Given the description of an element on the screen output the (x, y) to click on. 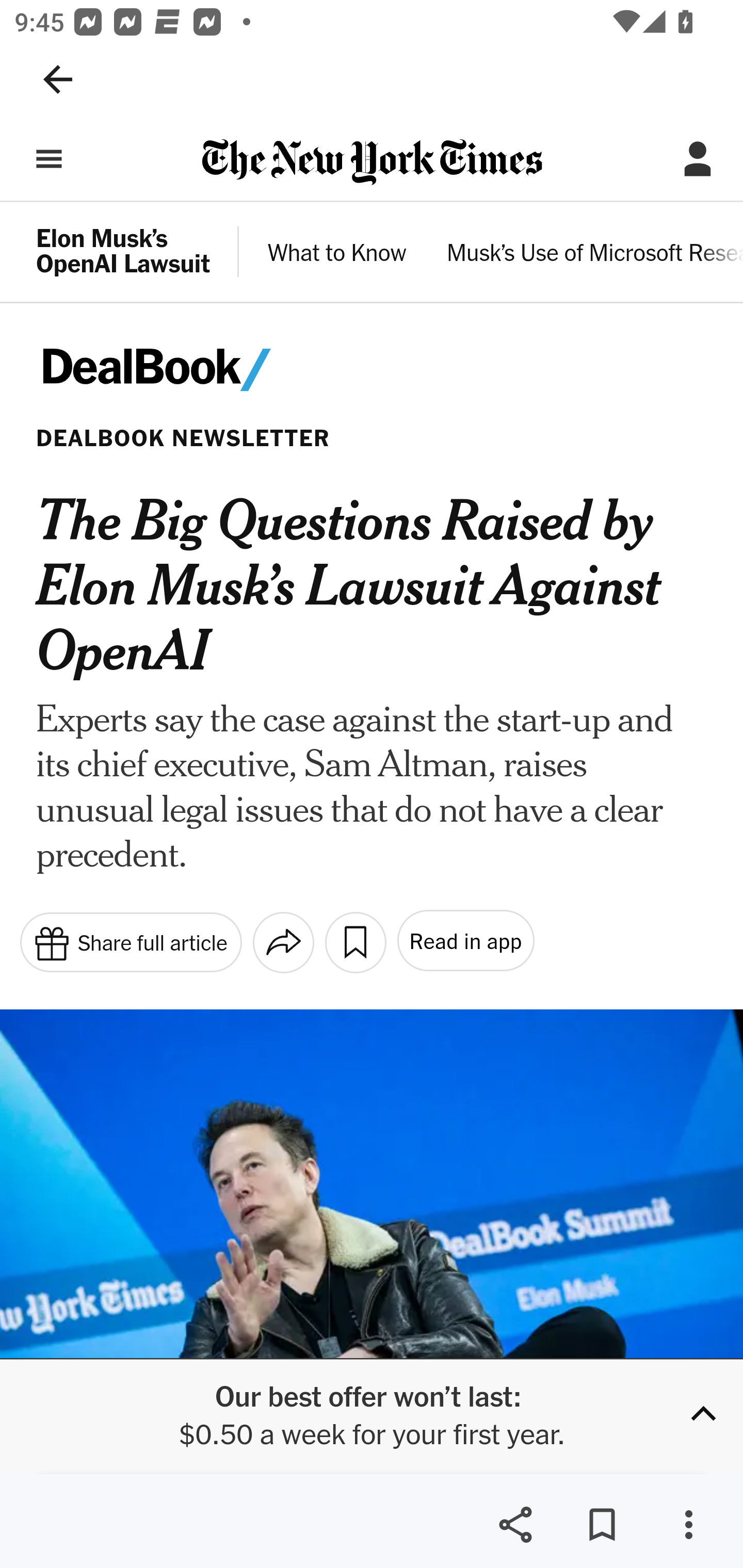
Navigate up (57, 79)
SEARCH & SECTION NAVIGATION (48, 159)
Log in (697, 159)
New York Times homepage (371, 162)
What to Know (337, 254)
Musk’s Use of Microsoft Research (594, 254)
DealBook (181, 369)
More sharing options ... (283, 942)
Save article for reading later... (355, 942)
Read in app (464, 940)
Share full article (129, 941)
Share (514, 1524)
Save for later (601, 1524)
More options (688, 1524)
